Given the description of an element on the screen output the (x, y) to click on. 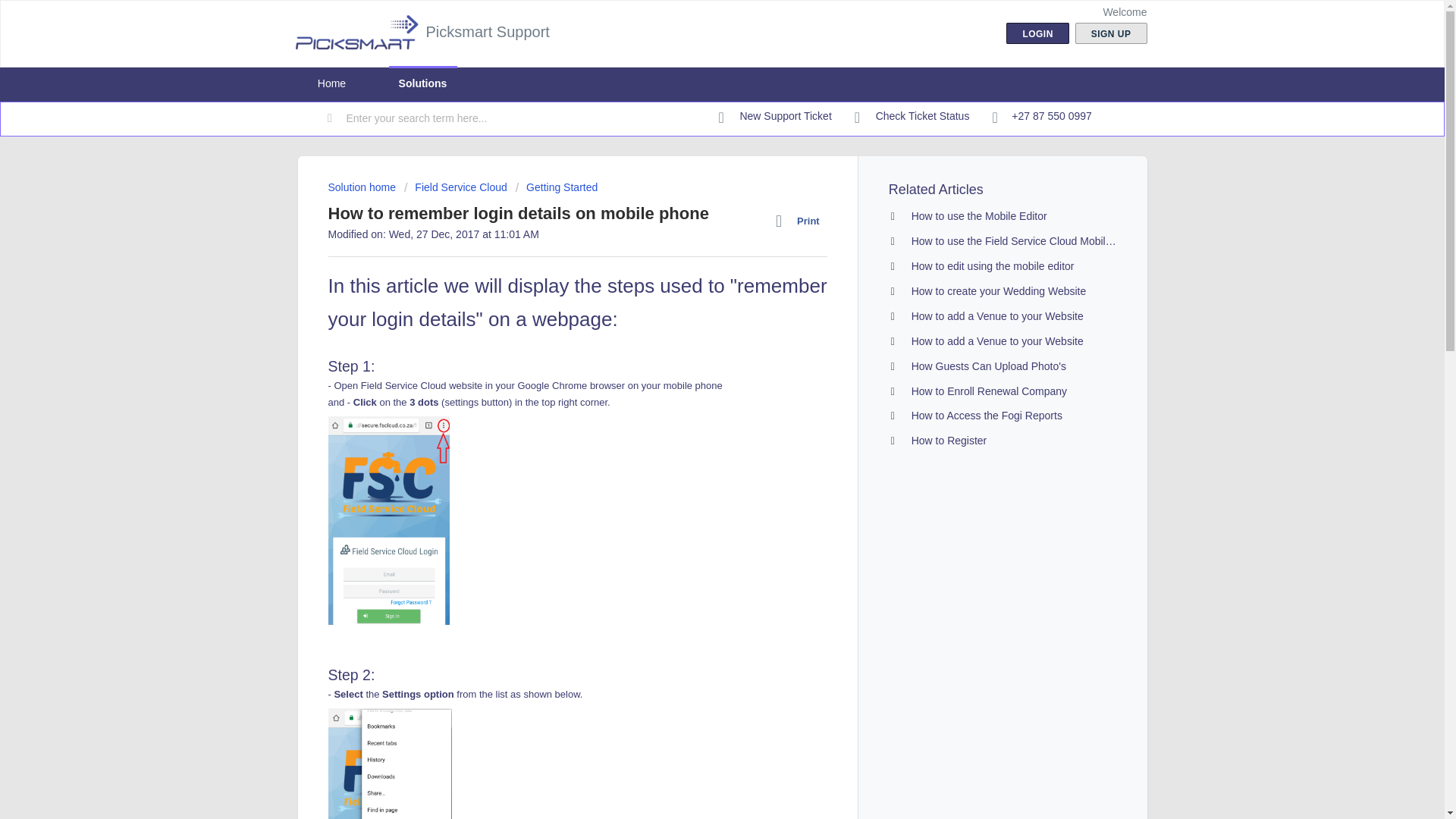
How to add a Venue to your Website (997, 316)
How to Register (949, 440)
SIGN UP (1111, 33)
How to add a Venue to your Website (997, 340)
How to Enroll Renewal Company (989, 390)
LOGIN (1037, 33)
Home (331, 83)
How to use the Mobile Editor (978, 215)
Solution home (362, 186)
Field Service Cloud (455, 186)
